Given the description of an element on the screen output the (x, y) to click on. 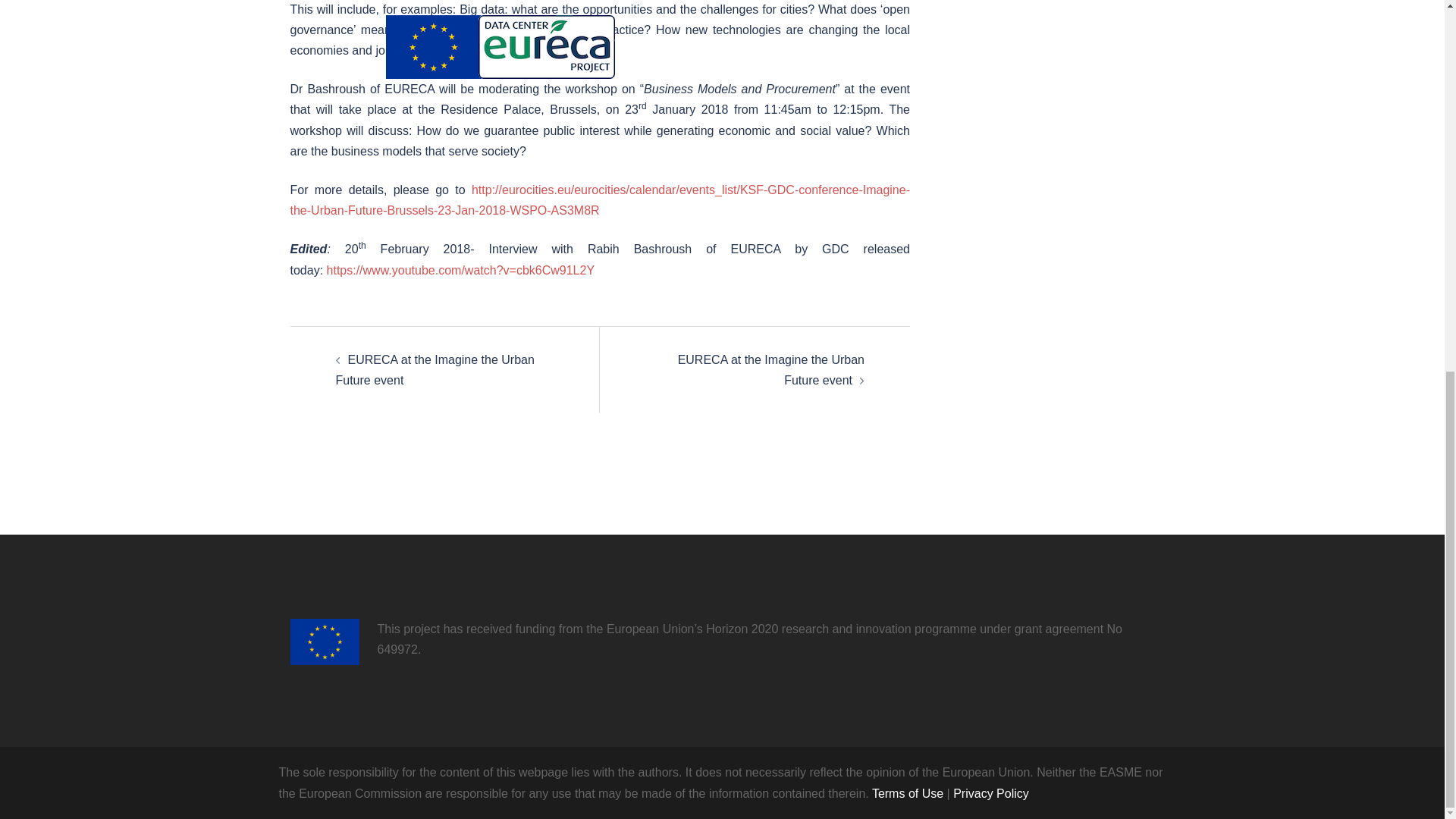
EURECA at the Imagine the Urban Future event (771, 369)
Privacy Policy (991, 793)
Terms of Use (907, 793)
EURECA at the Imagine the Urban Future event (434, 369)
